Given the description of an element on the screen output the (x, y) to click on. 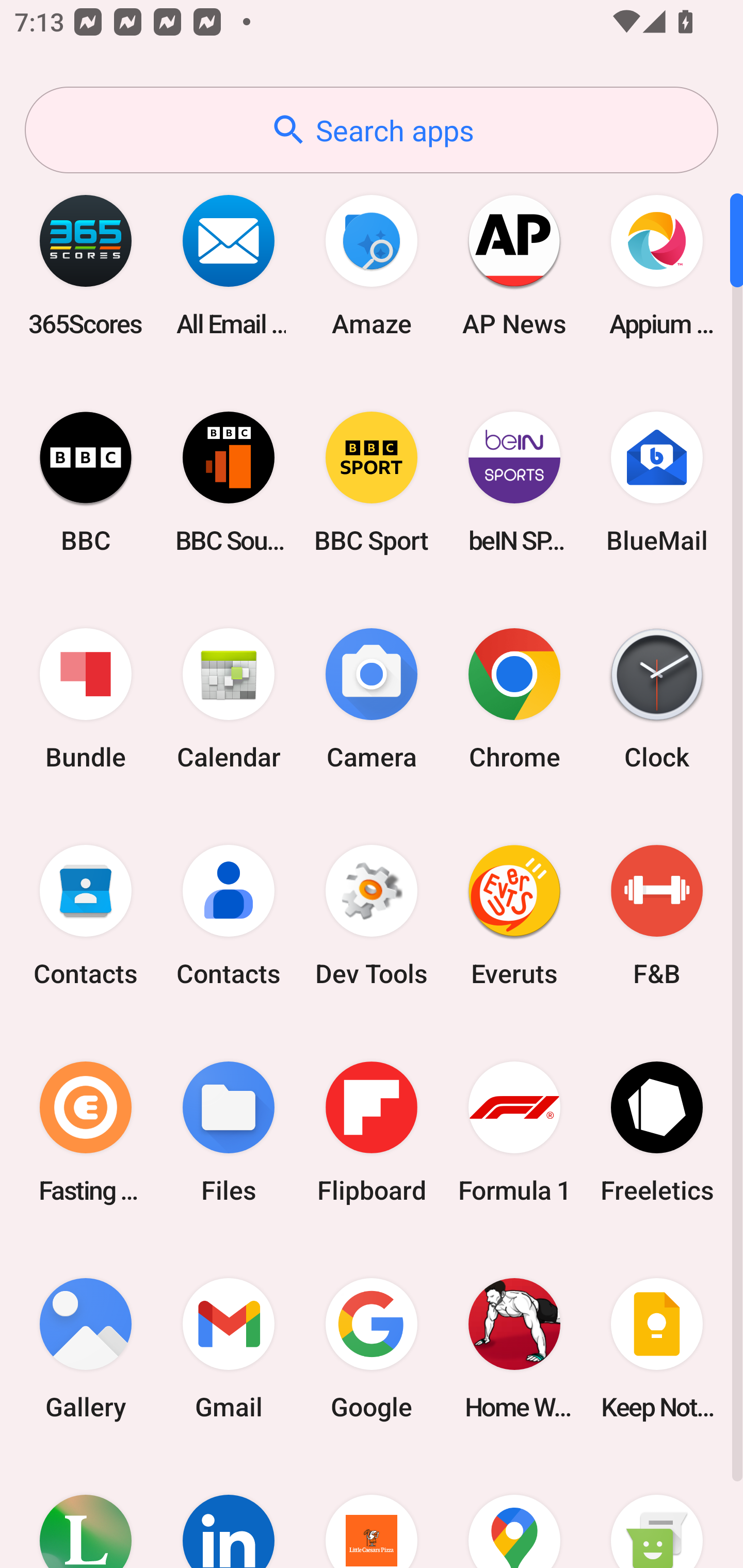
  Search apps (371, 130)
365Scores (85, 264)
All Email Connect (228, 264)
Amaze (371, 264)
AP News (514, 264)
Appium Settings (656, 264)
BBC (85, 482)
BBC Sounds (228, 482)
BBC Sport (371, 482)
beIN SPORTS (514, 482)
BlueMail (656, 482)
Bundle (85, 699)
Calendar (228, 699)
Camera (371, 699)
Chrome (514, 699)
Clock (656, 699)
Contacts (85, 915)
Contacts (228, 915)
Dev Tools (371, 915)
Everuts (514, 915)
F&B (656, 915)
Fasting Coach (85, 1131)
Files (228, 1131)
Flipboard (371, 1131)
Formula 1 (514, 1131)
Freeletics (656, 1131)
Gallery (85, 1348)
Gmail (228, 1348)
Google (371, 1348)
Home Workout (514, 1348)
Keep Notes (656, 1348)
Lifesum (85, 1512)
LinkedIn (228, 1512)
Little Caesars Pizza (371, 1512)
Maps (514, 1512)
Messaging (656, 1512)
